Given the description of an element on the screen output the (x, y) to click on. 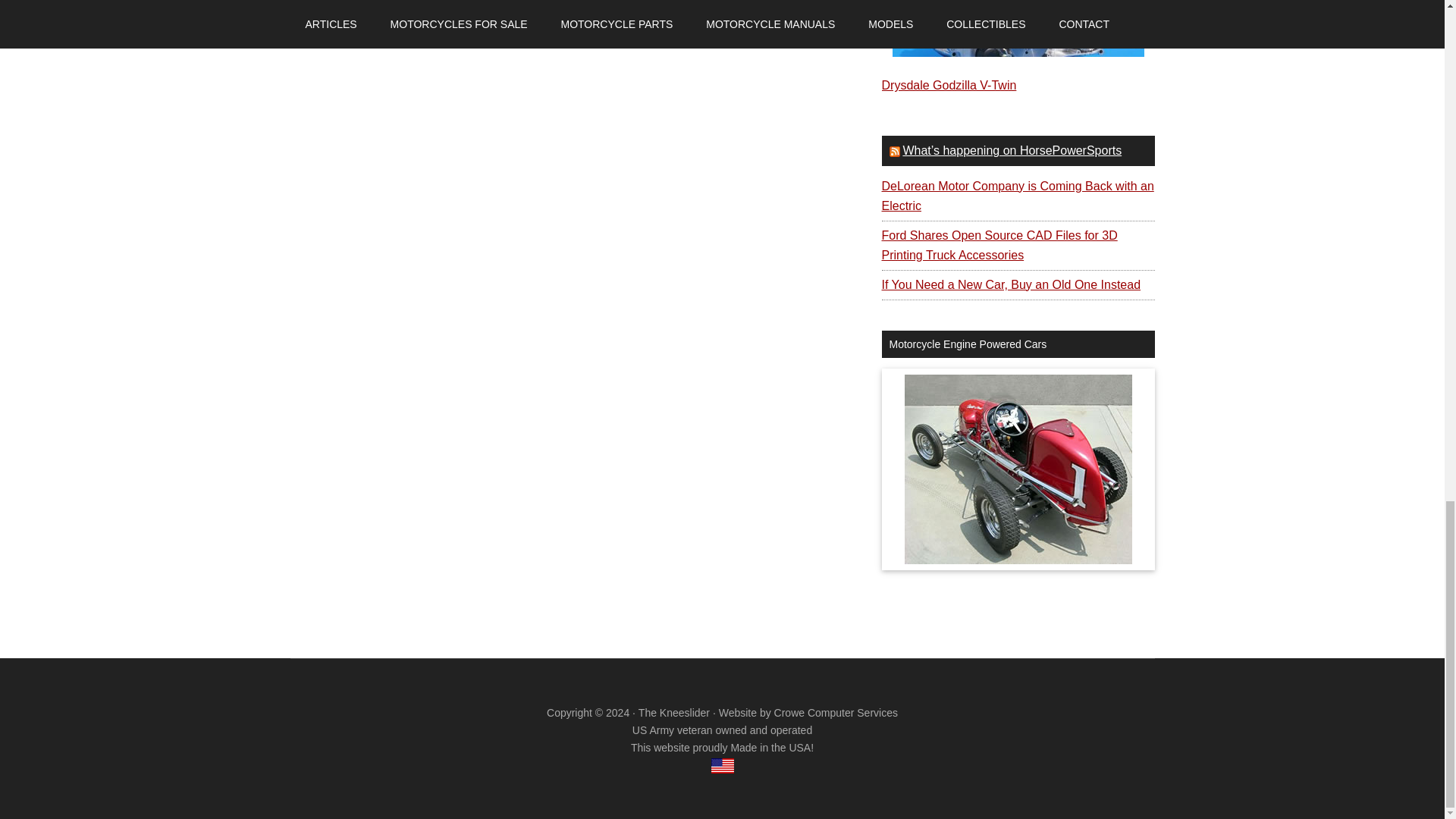
If You Need a New Car, Buy an Old One Instead (1010, 284)
Bill Vukovitch Drake Harley Davidson powered midget racer (1017, 469)
Drysdale Godzilla V-Twin (948, 84)
The Kneeslider (674, 712)
DeLorean Motor Company is Coming Back with an Electric (1016, 195)
Made in the USA (722, 765)
Crowe Computer Services (836, 712)
